Given the description of an element on the screen output the (x, y) to click on. 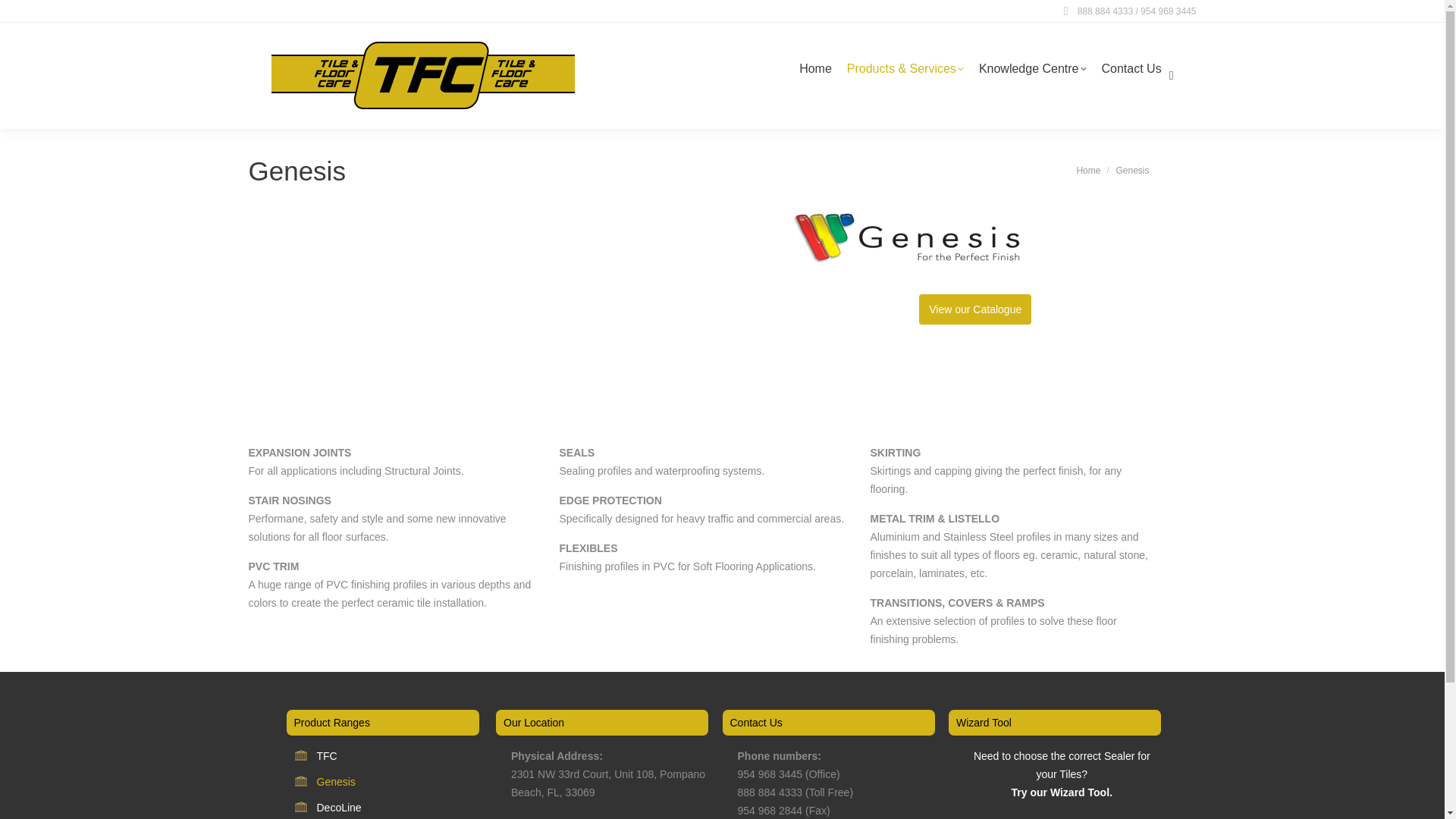
Contact Us (1131, 75)
View our Catalogue (974, 309)
Home (1087, 170)
Home (816, 75)
DecoLine (339, 807)
Knowledge Centre (1032, 75)
Home (1087, 170)
Genesis (336, 782)
Genesis (906, 237)
